Given the description of an element on the screen output the (x, y) to click on. 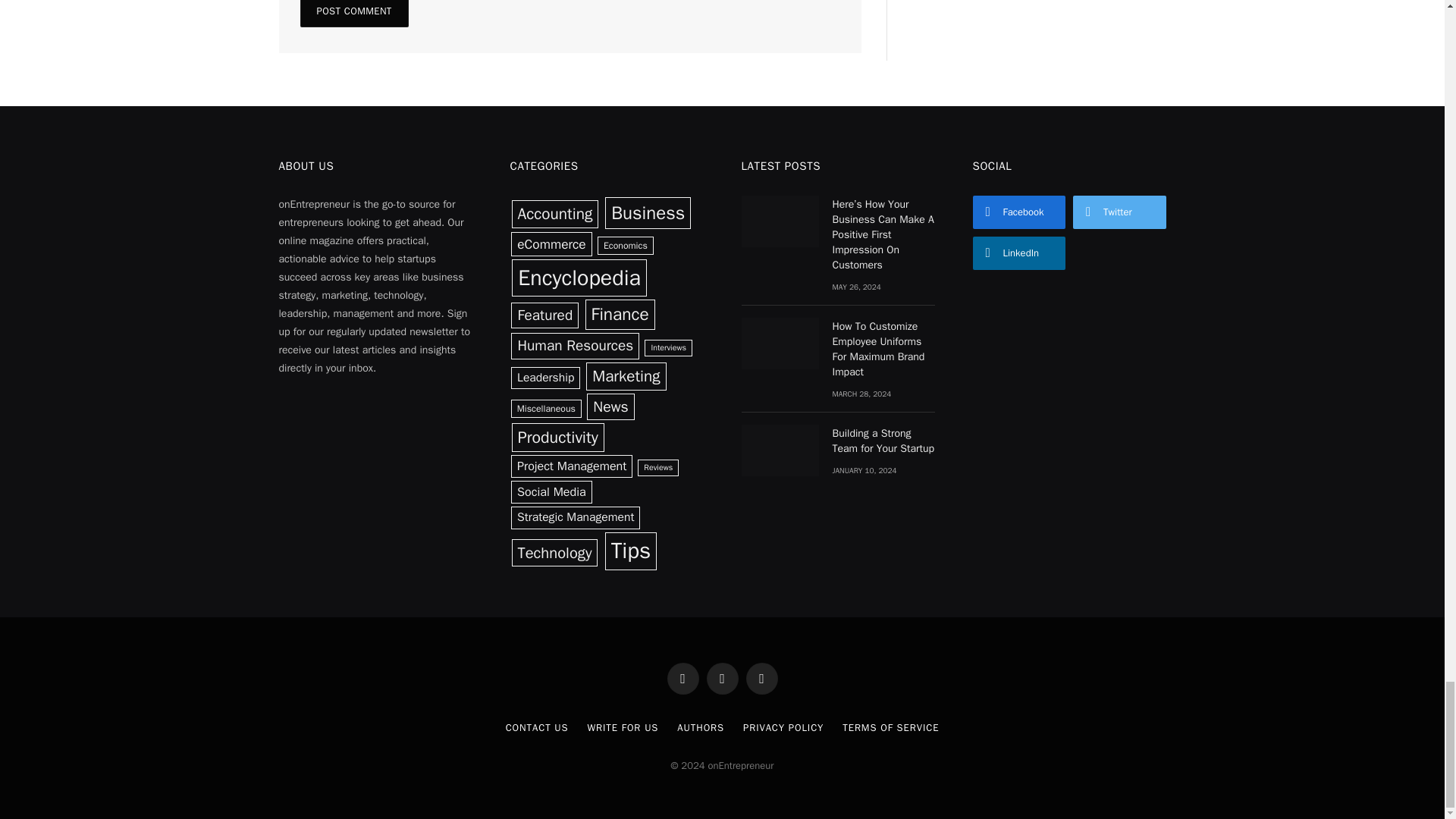
Post Comment (354, 13)
